Given the description of an element on the screen output the (x, y) to click on. 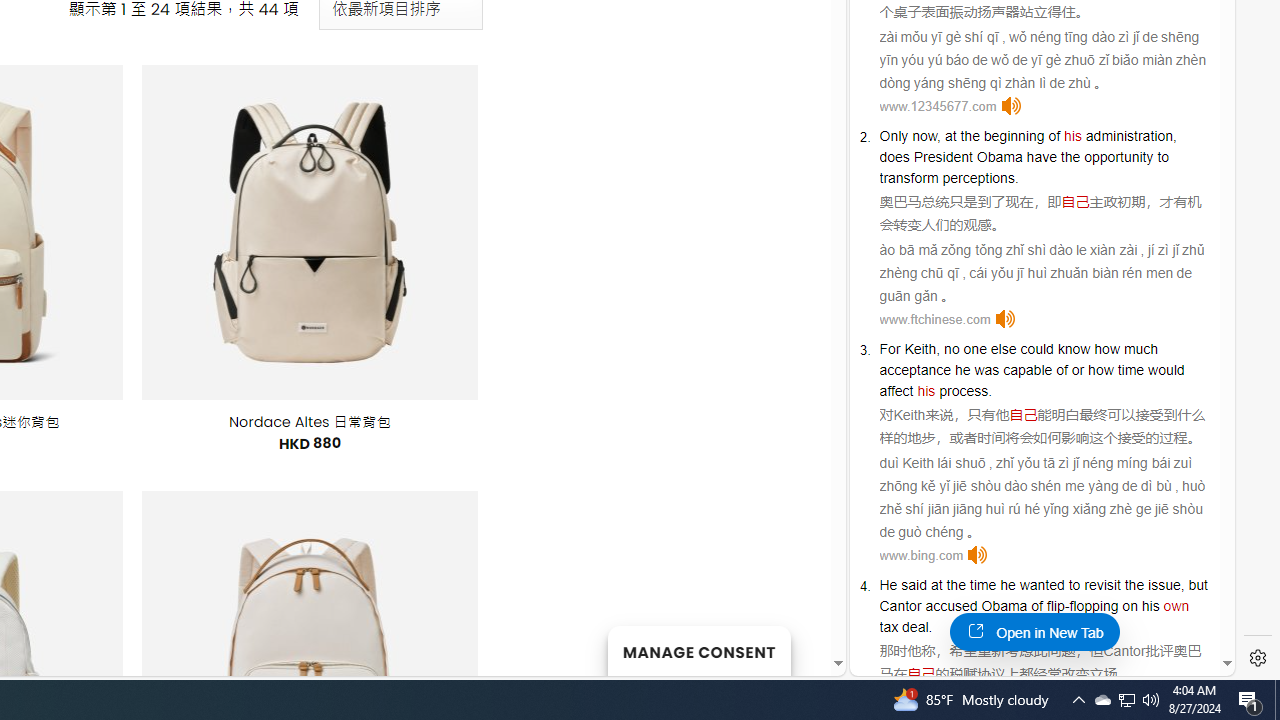
process (964, 390)
acceptance (915, 370)
revisit (1102, 584)
beginning (1013, 136)
administration (1128, 136)
said (913, 584)
perceptions (978, 177)
. (930, 627)
